Given the description of an element on the screen output the (x, y) to click on. 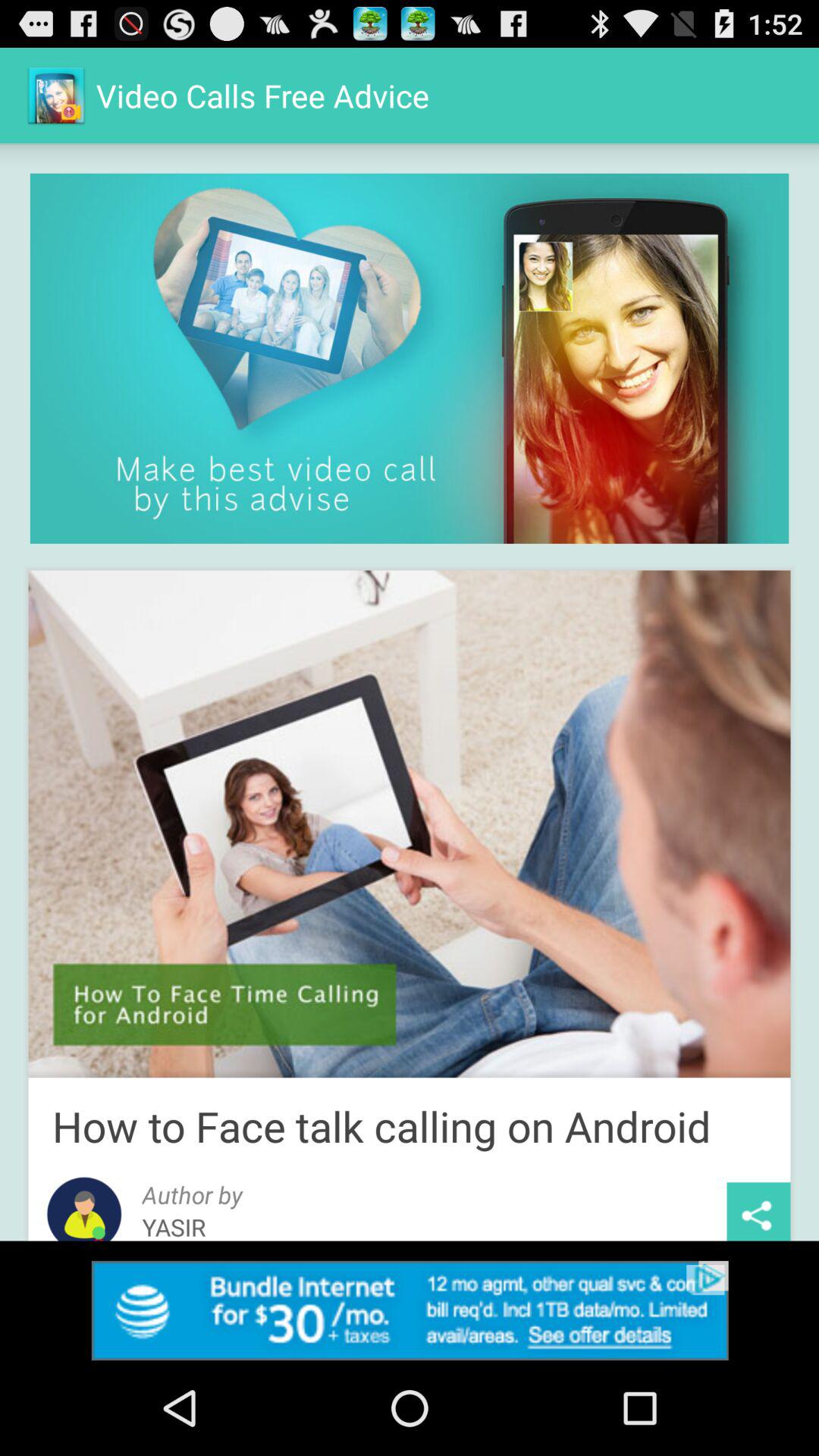
go to advertisements website (409, 1310)
